Given the description of an element on the screen output the (x, y) to click on. 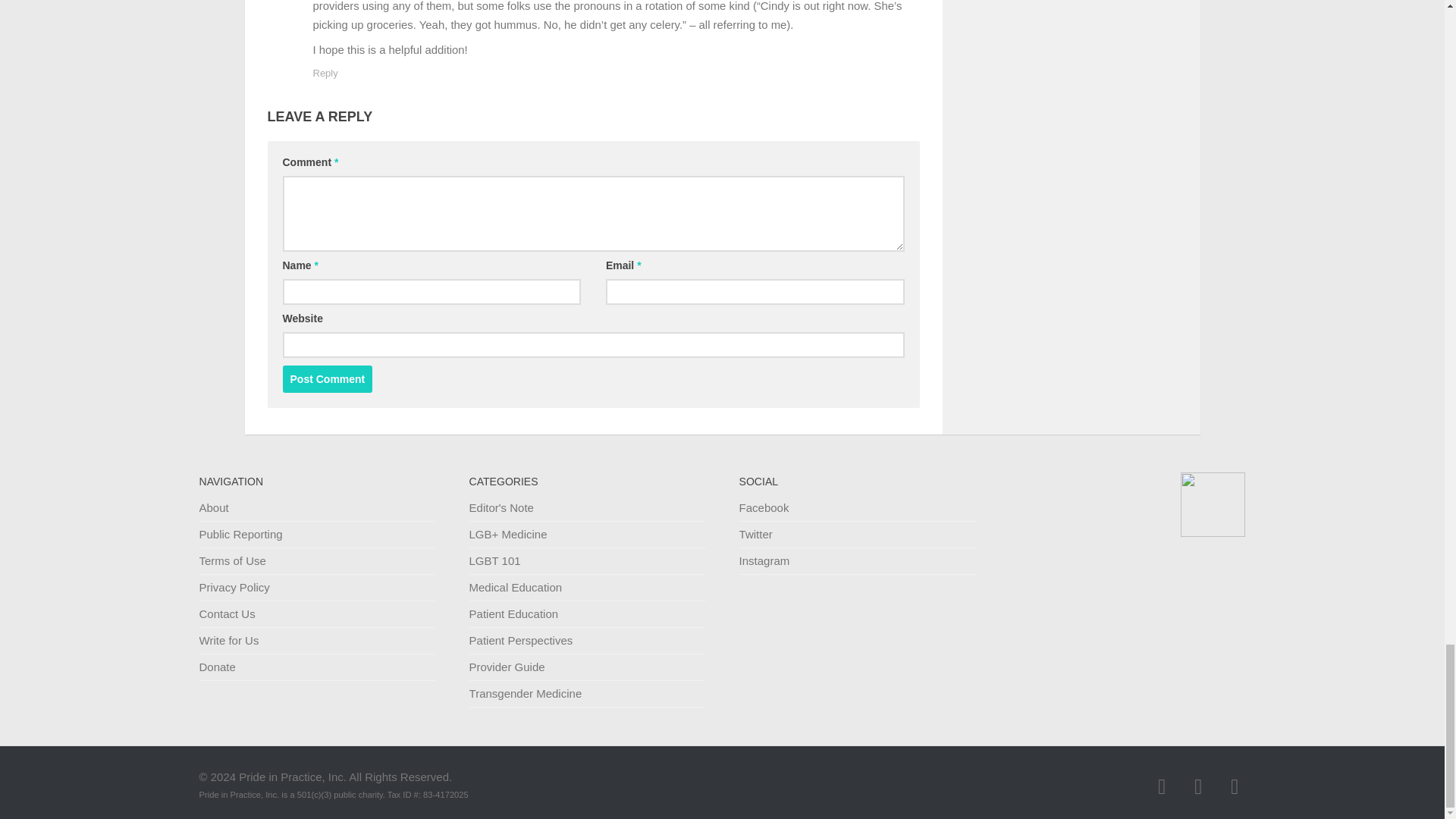
Post Comment (327, 379)
Follow us on Facebook (1161, 786)
Follow us on Twitter (1198, 786)
